Given the description of an element on the screen output the (x, y) to click on. 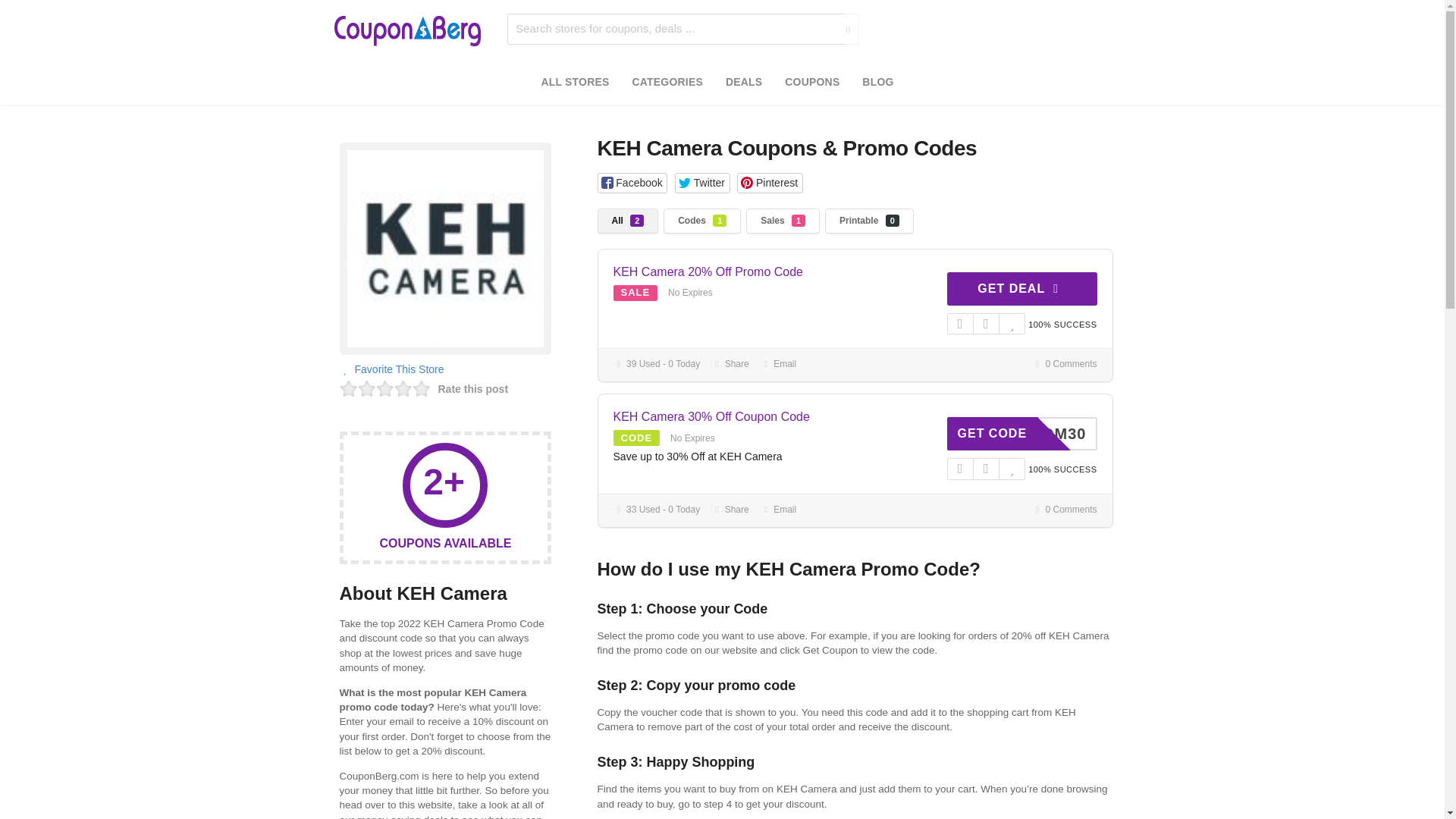
Sales 1 (782, 220)
All 2 (627, 220)
BLOG (876, 82)
Coupon Comments (1064, 509)
Share (730, 509)
DEALS (743, 82)
Printable 0 (869, 220)
Share it with your friend (730, 363)
Send this coupon to an email (778, 509)
Share it with your friend (730, 509)
